Given the description of an element on the screen output the (x, y) to click on. 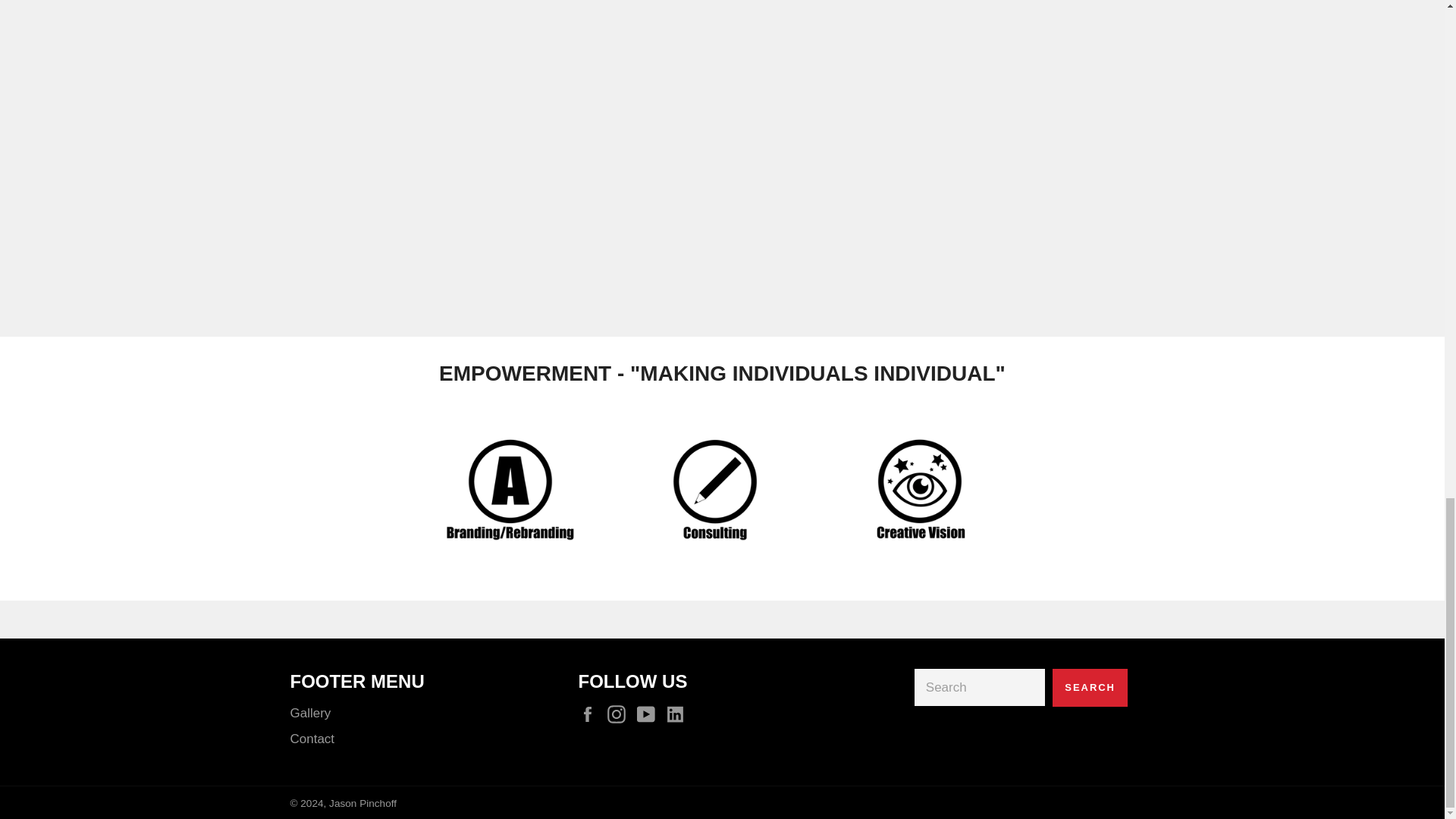
Jason Pinchoff on Facebook (591, 713)
Jason Pinchoff on Linkedin (675, 712)
Jason Pinchoff on Instagram (620, 713)
Jason Pinchoff on YouTube (649, 713)
